Given the description of an element on the screen output the (x, y) to click on. 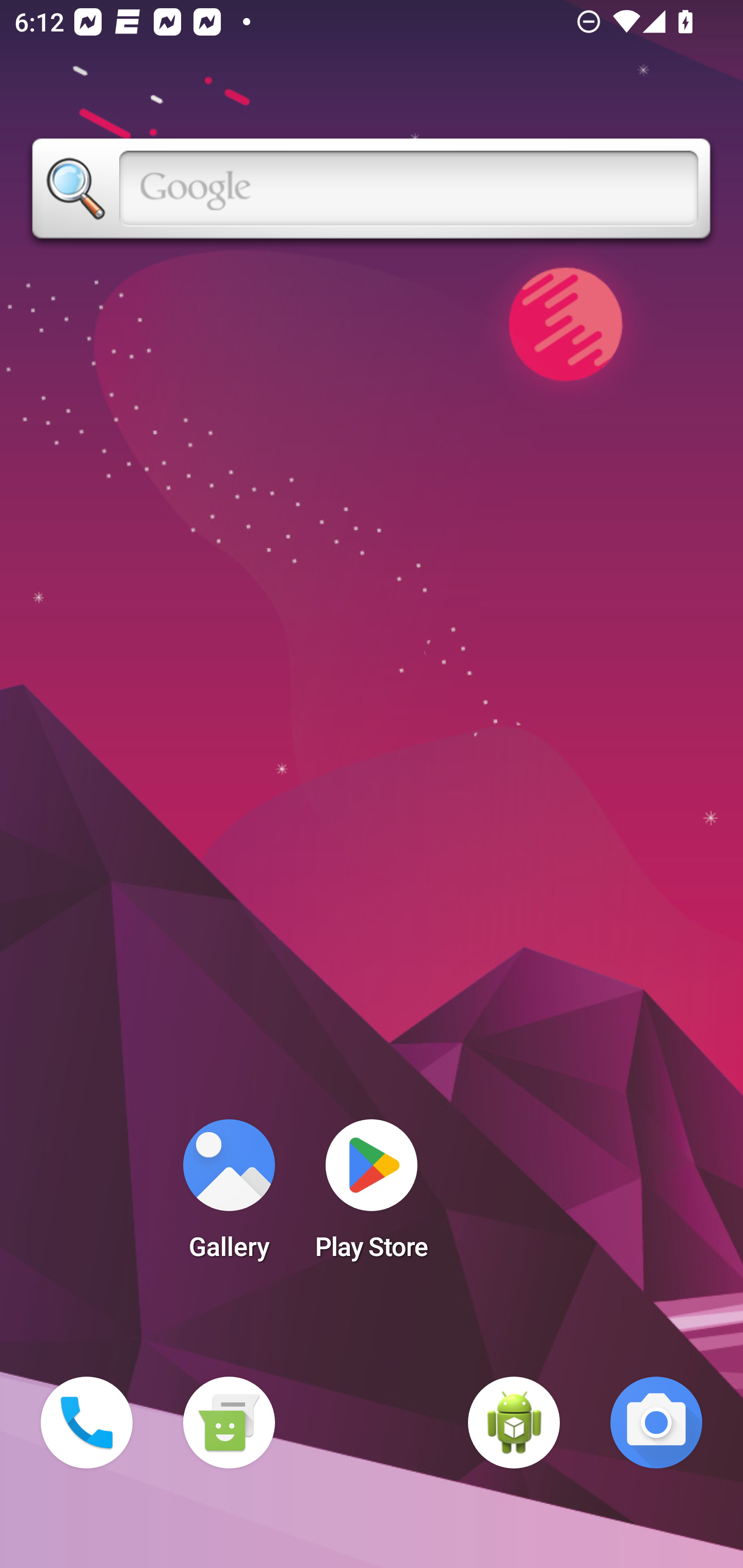
Gallery (228, 1195)
Play Store (371, 1195)
Phone (86, 1422)
Messaging (228, 1422)
WebView Browser Tester (513, 1422)
Camera (656, 1422)
